Given the description of an element on the screen output the (x, y) to click on. 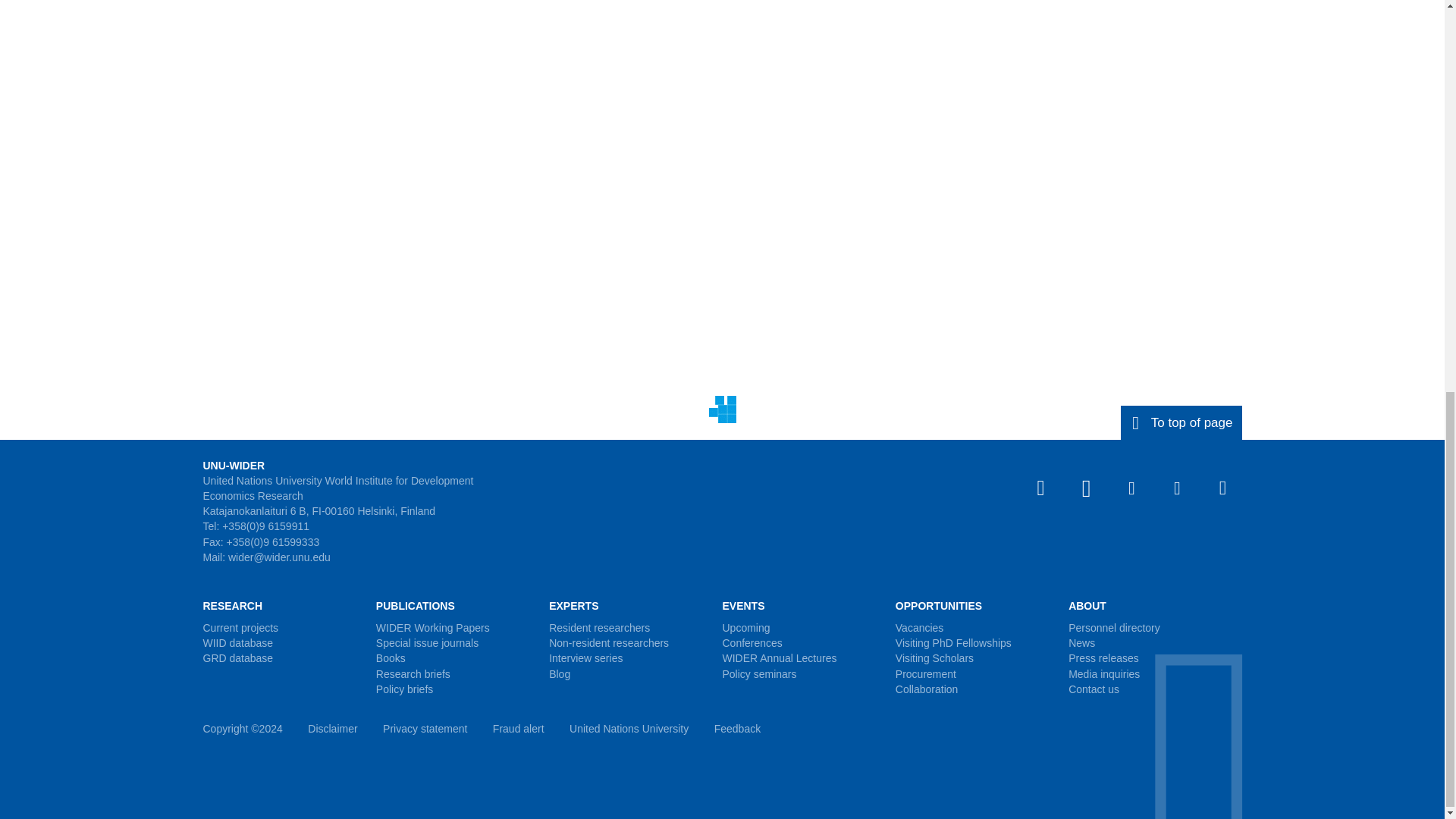
jump to the top of the page (1181, 422)
To top of page (1181, 422)
To top of page (1181, 422)
